Given the description of an element on the screen output the (x, y) to click on. 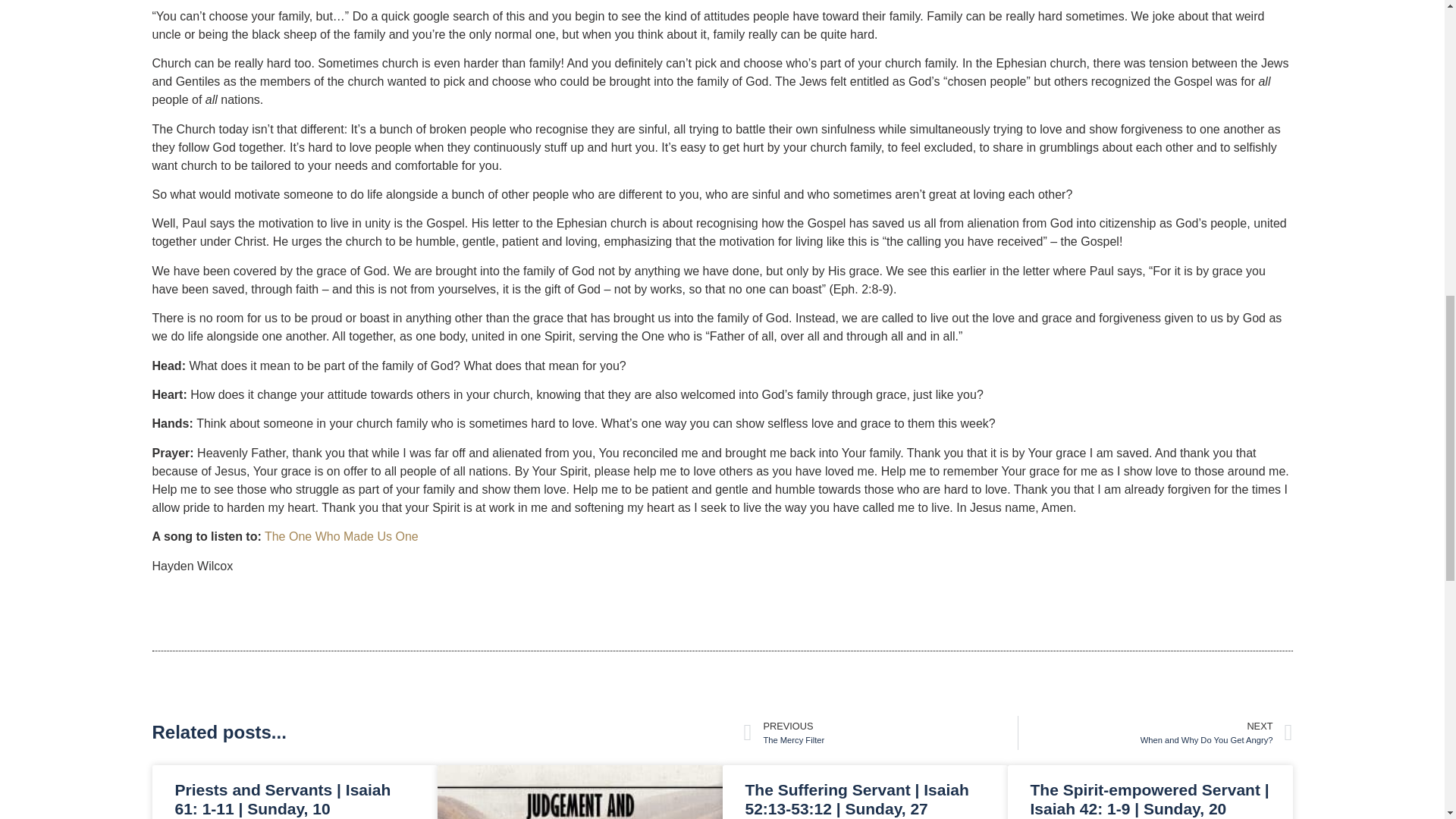
The One Who Made Us One (879, 732)
